Given the description of an element on the screen output the (x, y) to click on. 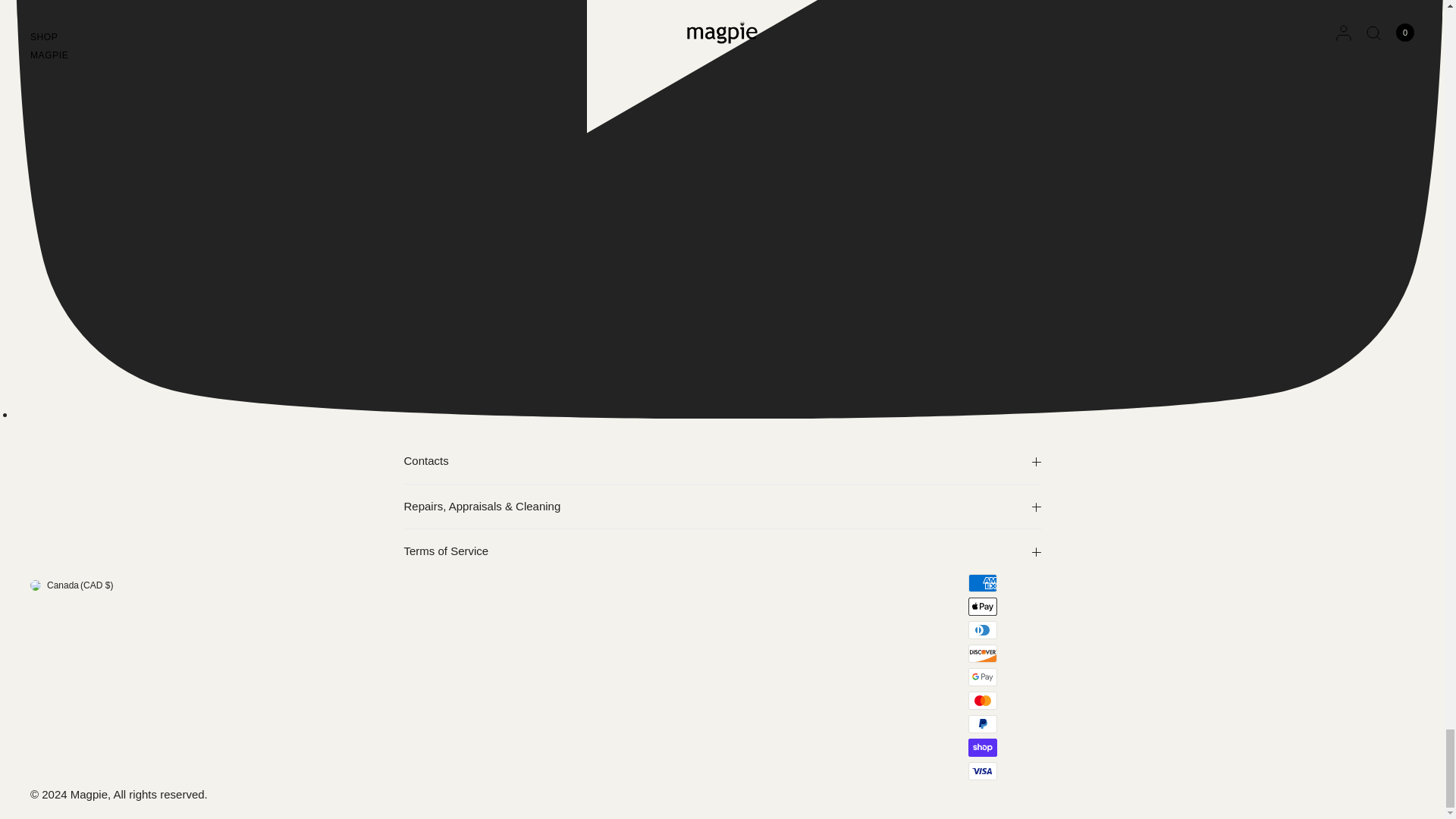
American Express (982, 583)
Apple Pay (982, 606)
Discover (982, 653)
Google Pay (982, 677)
Diners Club (982, 629)
